Given the description of an element on the screen output the (x, y) to click on. 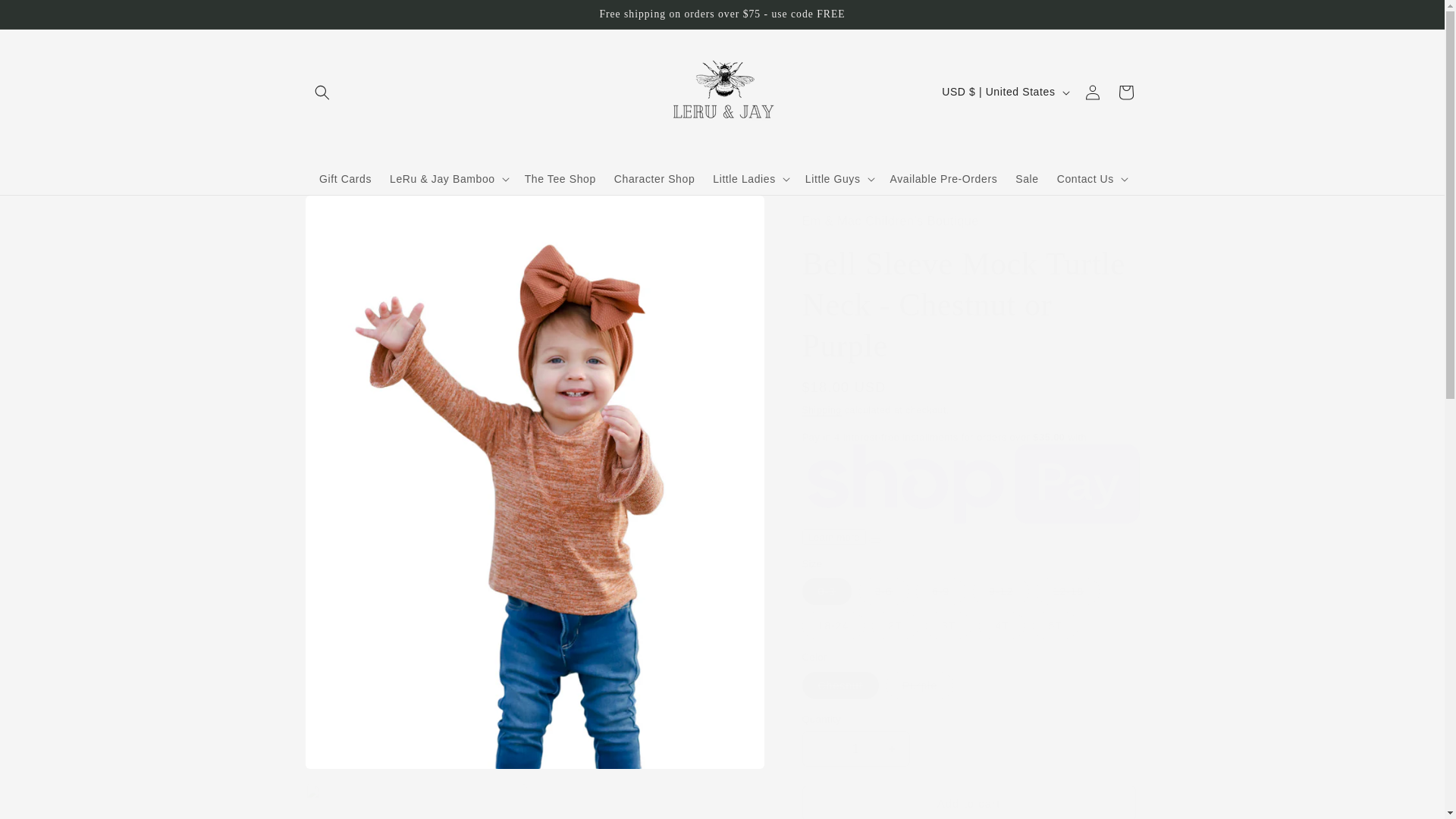
1 (856, 748)
Open media 2 in modal (415, 801)
Skip to content (45, 17)
Gift Cards (345, 178)
